Given the description of an element on the screen output the (x, y) to click on. 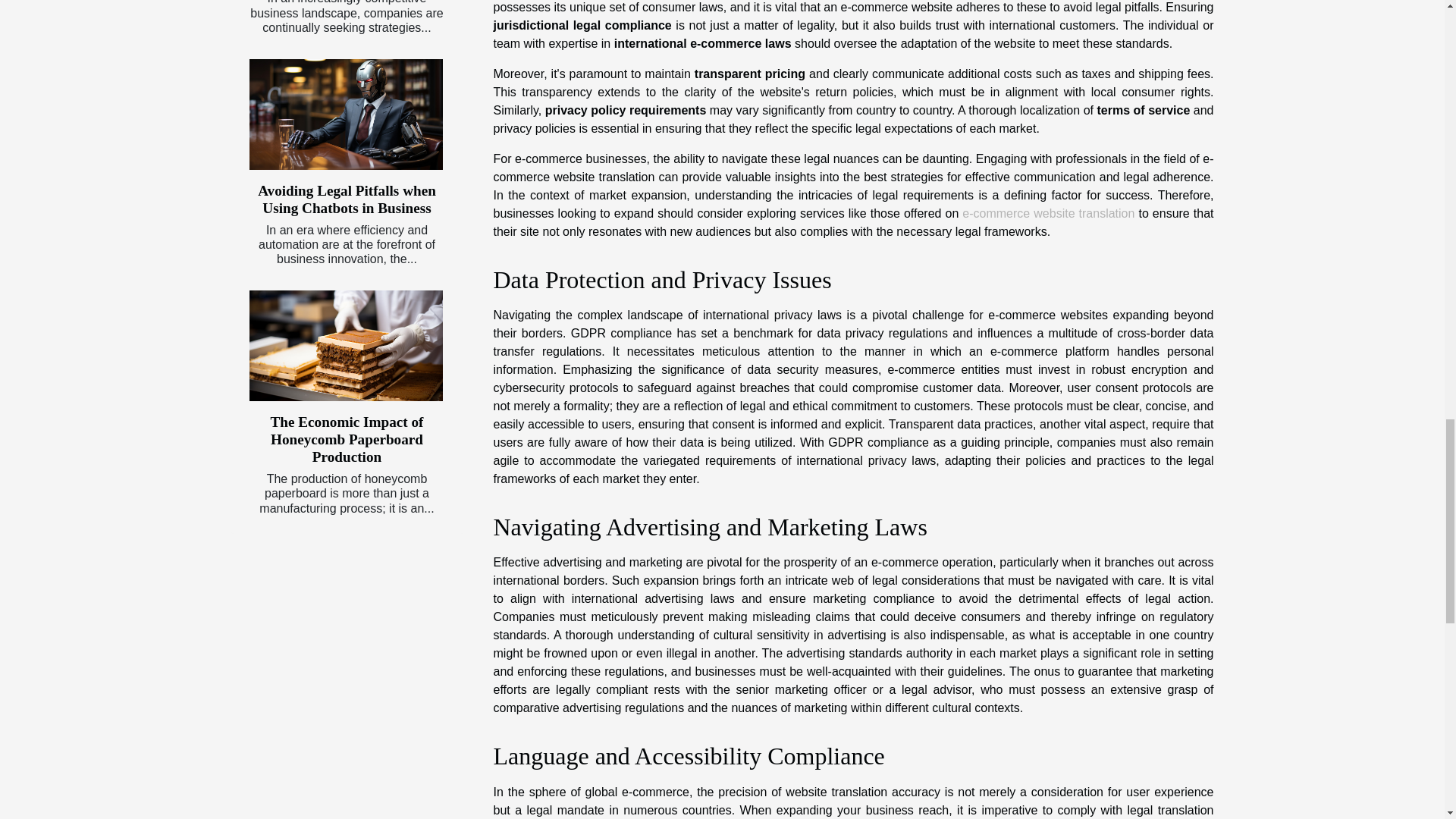
Avoiding Legal Pitfalls when Using Chatbots in Business (345, 113)
Avoiding Legal Pitfalls when Using Chatbots in Business (346, 199)
The Economic Impact of Honeycomb Paperboard Production (346, 439)
The Economic Impact of Honeycomb Paperboard Production (346, 439)
Avoiding Legal Pitfalls when Using Chatbots in Business (346, 199)
e-commerce website translation (1048, 213)
The Economic Impact of Honeycomb Paperboard Production (345, 345)
